Given the description of an element on the screen output the (x, y) to click on. 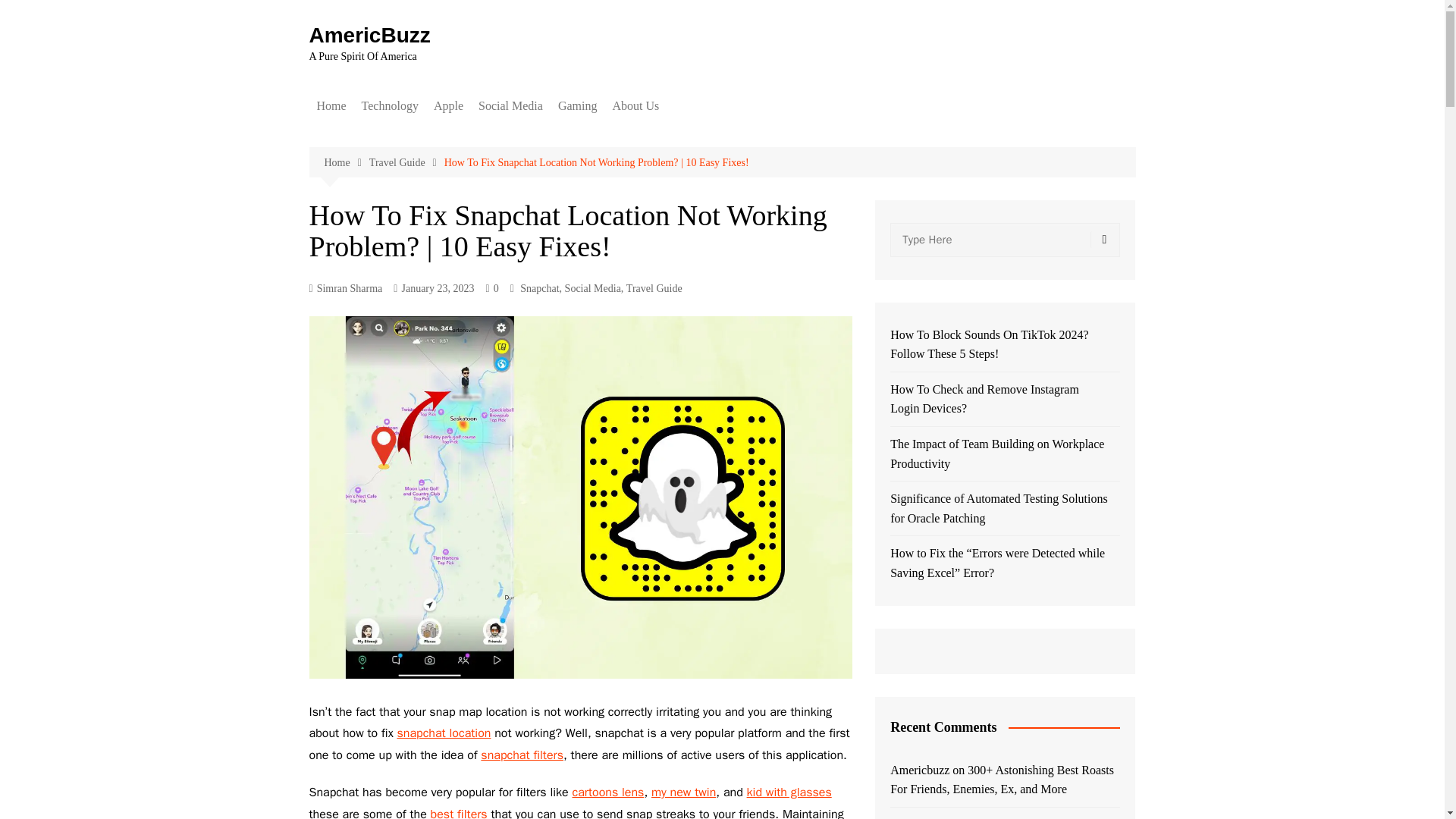
Apple (448, 105)
Gaming (577, 105)
cartoons lens (607, 792)
Facebook (553, 136)
Simran Sharma (345, 288)
iPhone (509, 136)
Travel Guide (406, 162)
Social Media (510, 105)
Home (330, 105)
snapchat filters (521, 754)
